Given the description of an element on the screen output the (x, y) to click on. 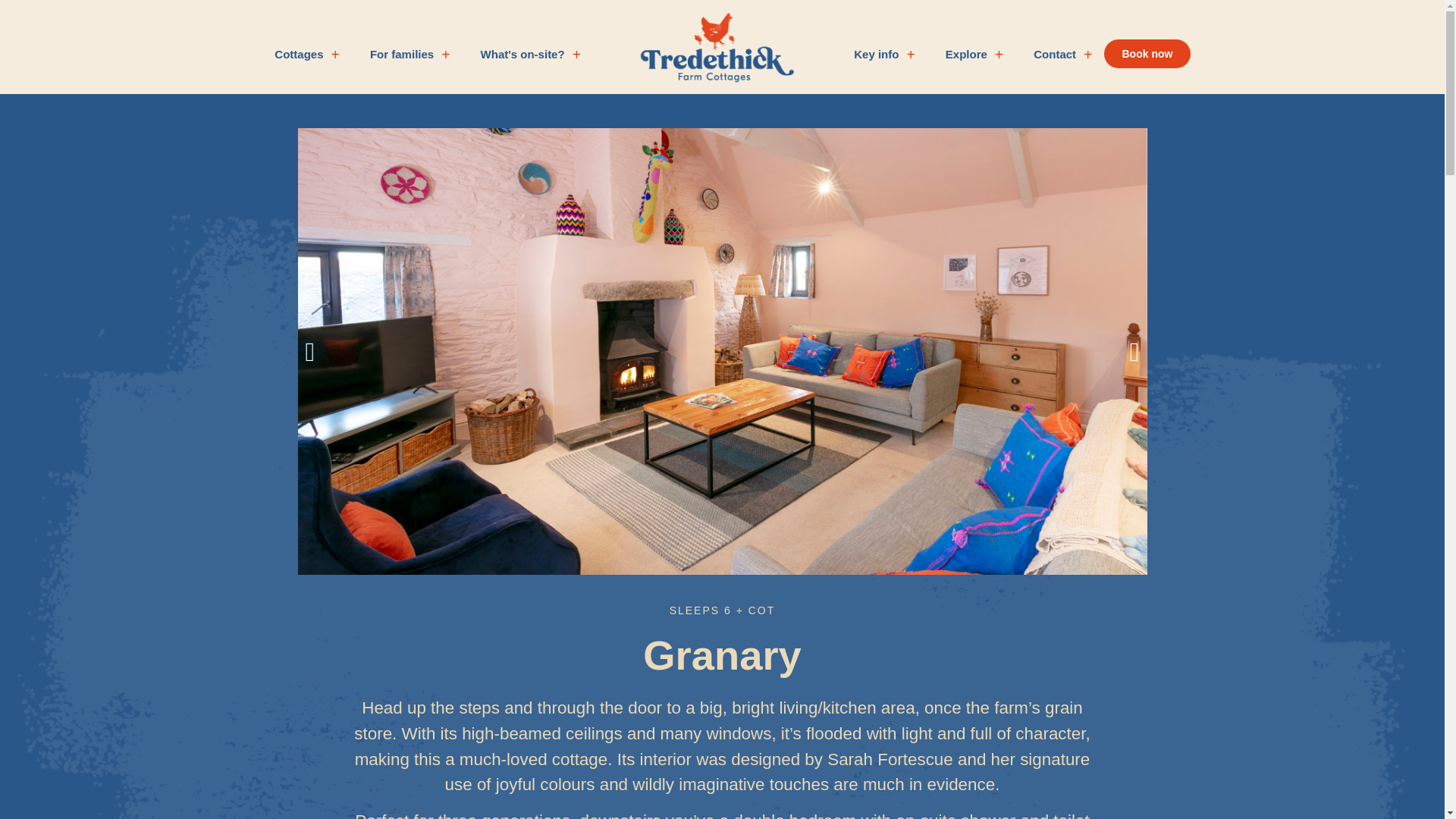
For families (409, 65)
Explore (974, 65)
Key info (884, 65)
Cottages (306, 65)
What's on-site? (530, 65)
